Given the description of an element on the screen output the (x, y) to click on. 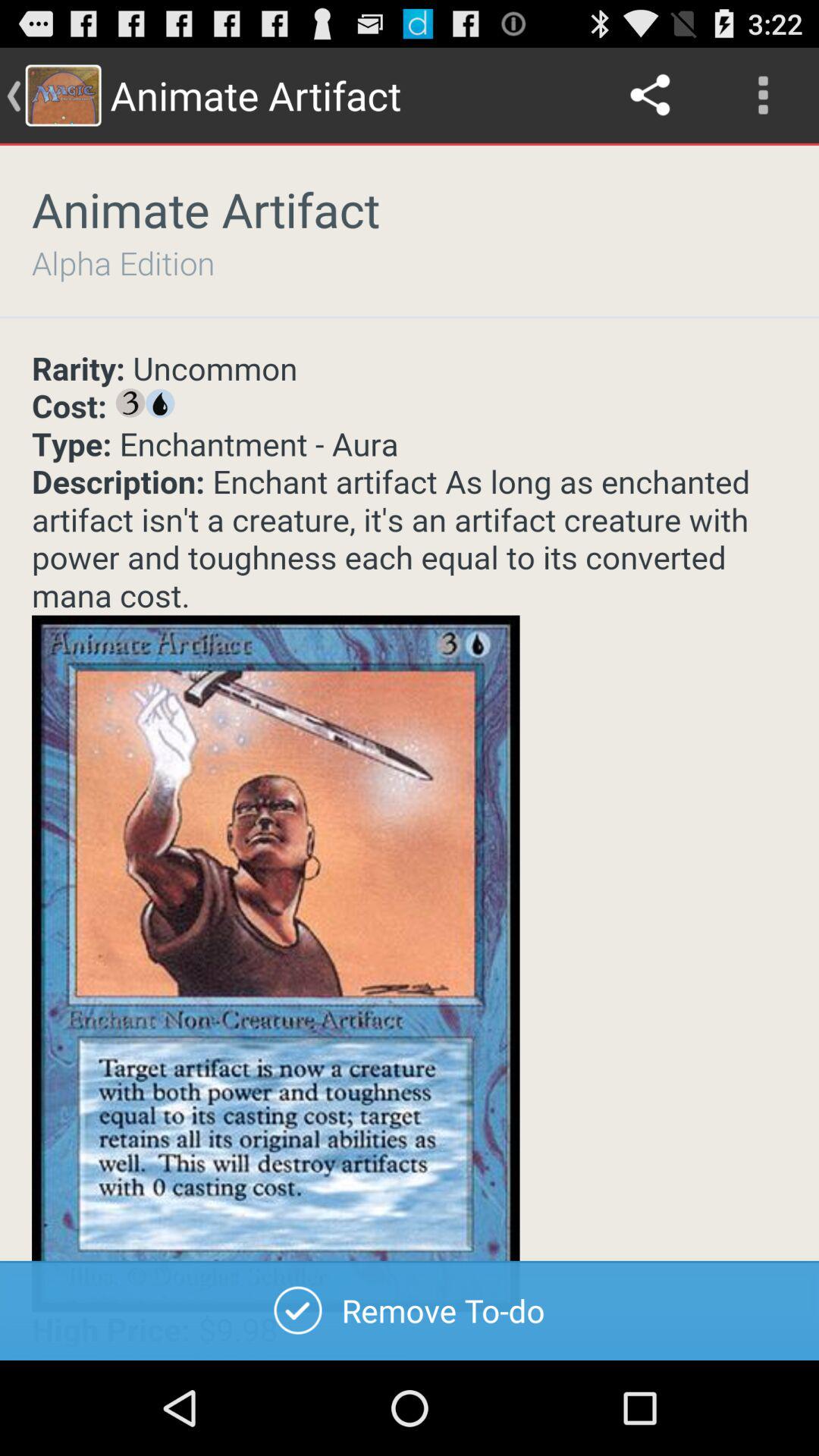
description (409, 855)
